Given the description of an element on the screen output the (x, y) to click on. 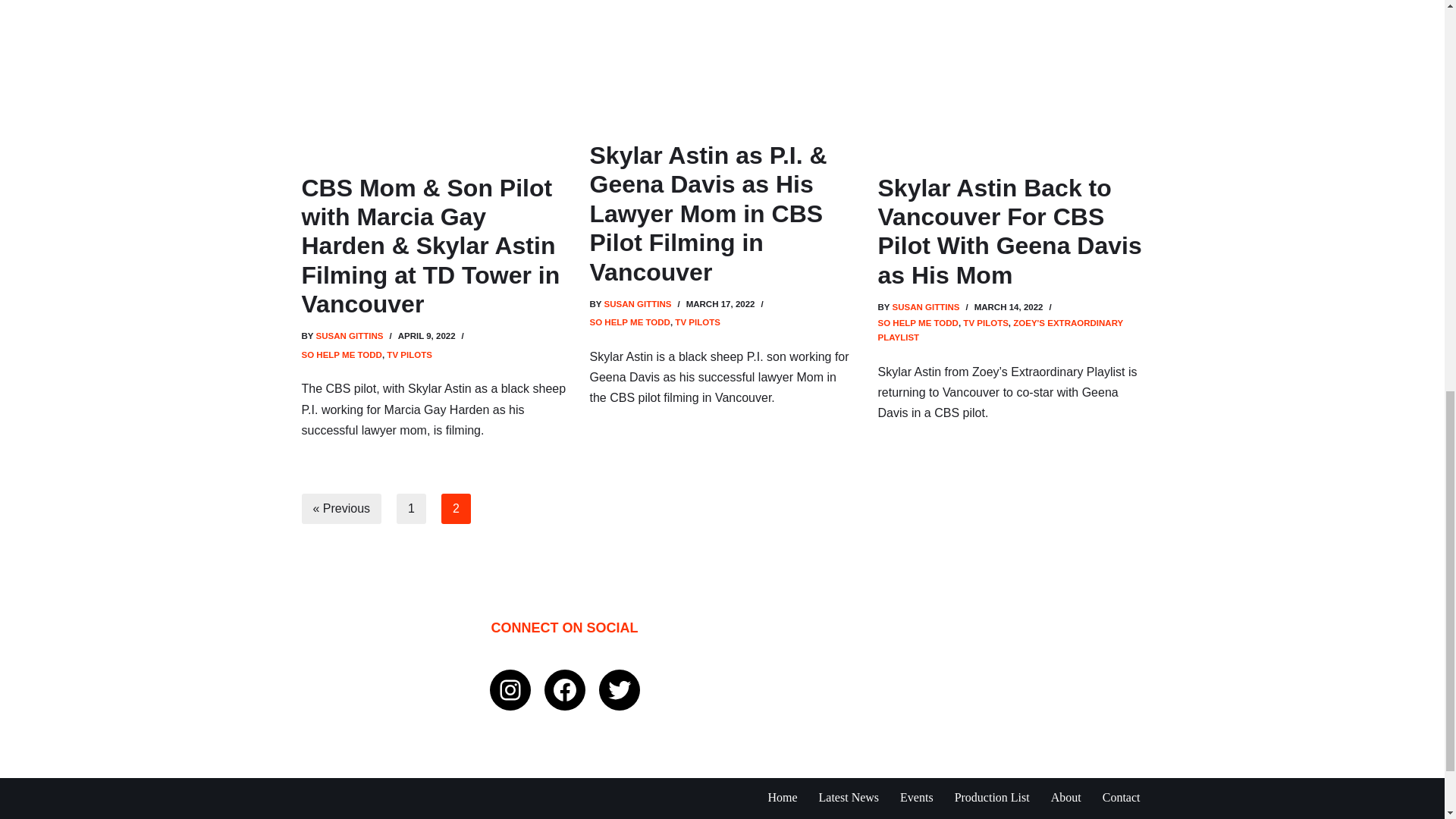
Posts by Susan Gittins (925, 307)
Posts by Susan Gittins (637, 303)
Posts by Susan Gittins (348, 335)
